Given the description of an element on the screen output the (x, y) to click on. 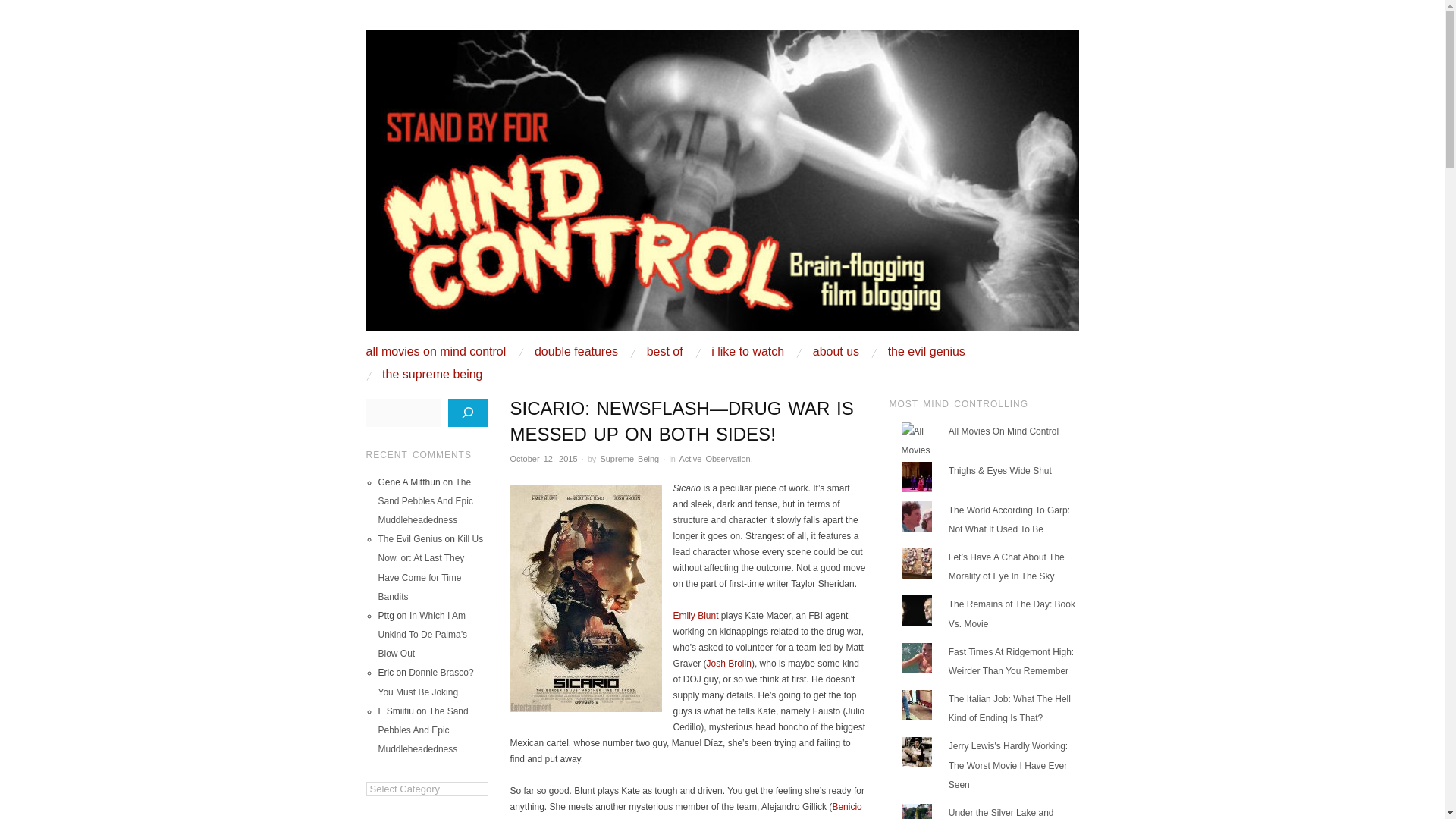
all movies on mind control (435, 351)
All Movies On Mind Control (1003, 430)
The World According To Garp: Not What It Used To Be (1009, 519)
View all posts by Supreme Being (629, 458)
double features (575, 351)
Active Observation (713, 458)
about us (835, 351)
i like to watch (747, 351)
October 12, 2015 (542, 458)
the evil genius (926, 351)
